Given the description of an element on the screen output the (x, y) to click on. 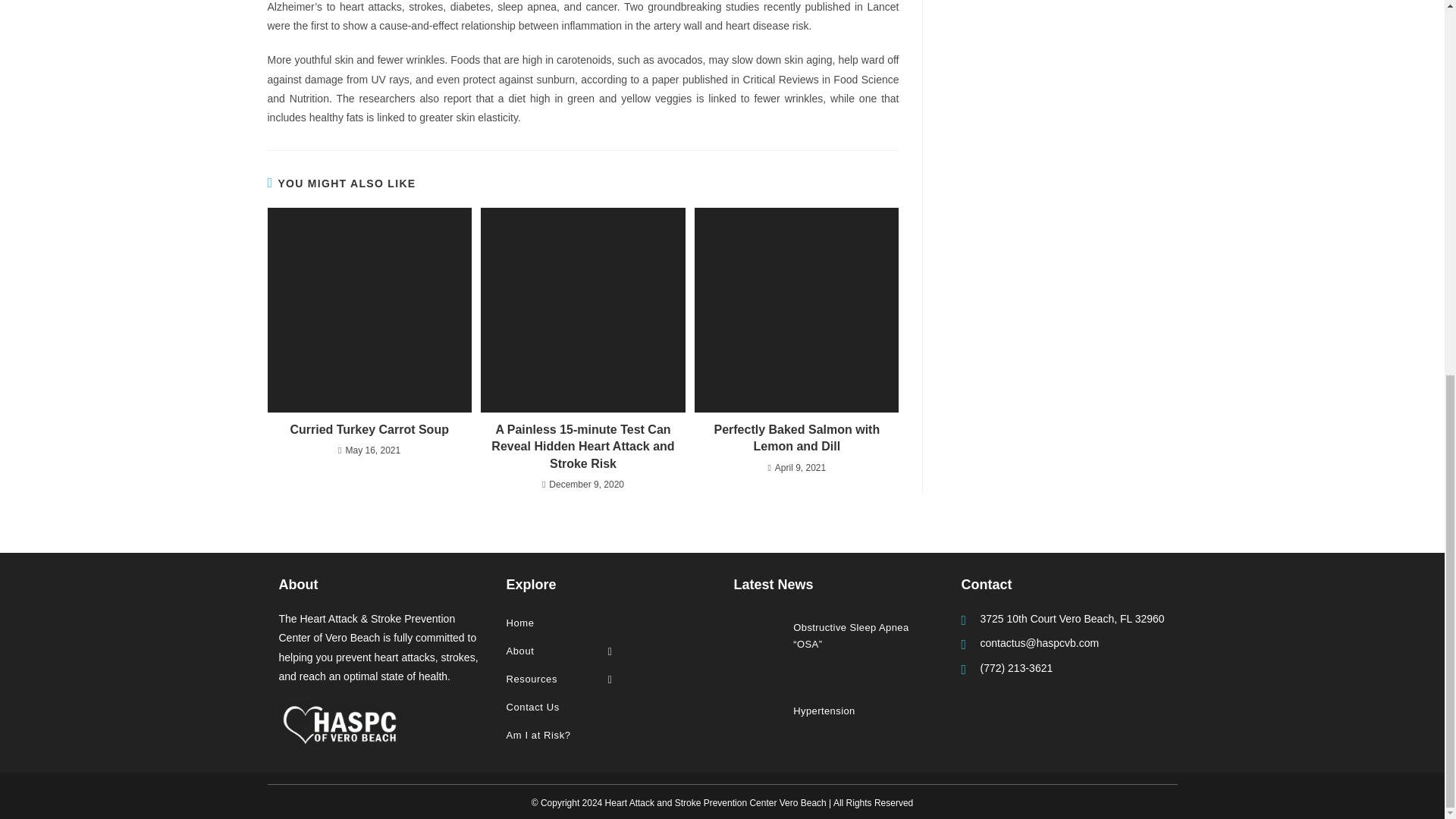
Perfectly Baked Salmon with Lemon and Dill (796, 438)
Curried Turkey Carrot Soup (368, 429)
Hypertension (759, 710)
